Given the description of an element on the screen output the (x, y) to click on. 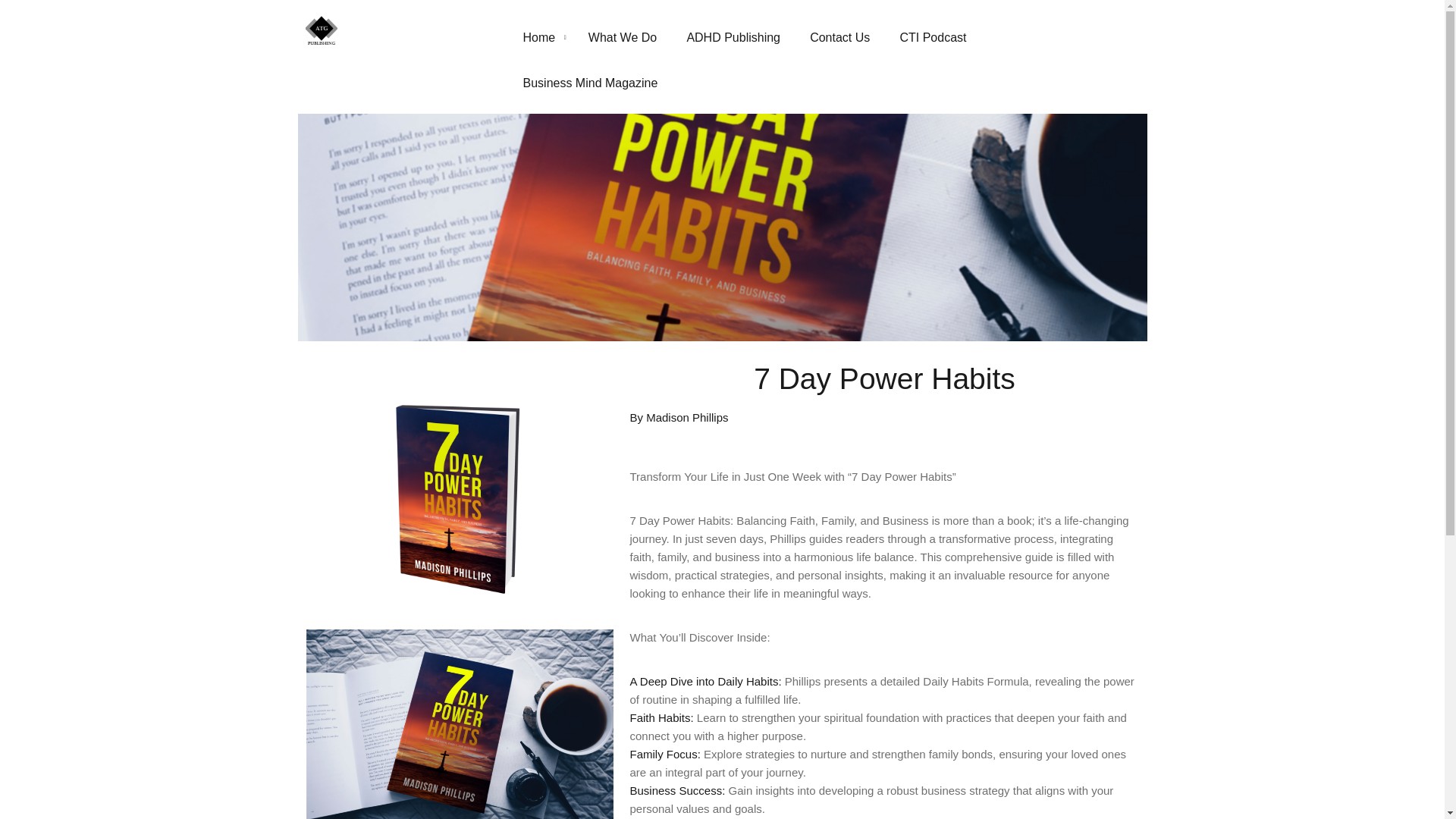
ADHD Publishing (738, 37)
Business Mind Magazine (595, 83)
CTI Podcast (937, 37)
What We Do (628, 37)
Contact Us (844, 37)
Home (546, 37)
